Given the description of an element on the screen output the (x, y) to click on. 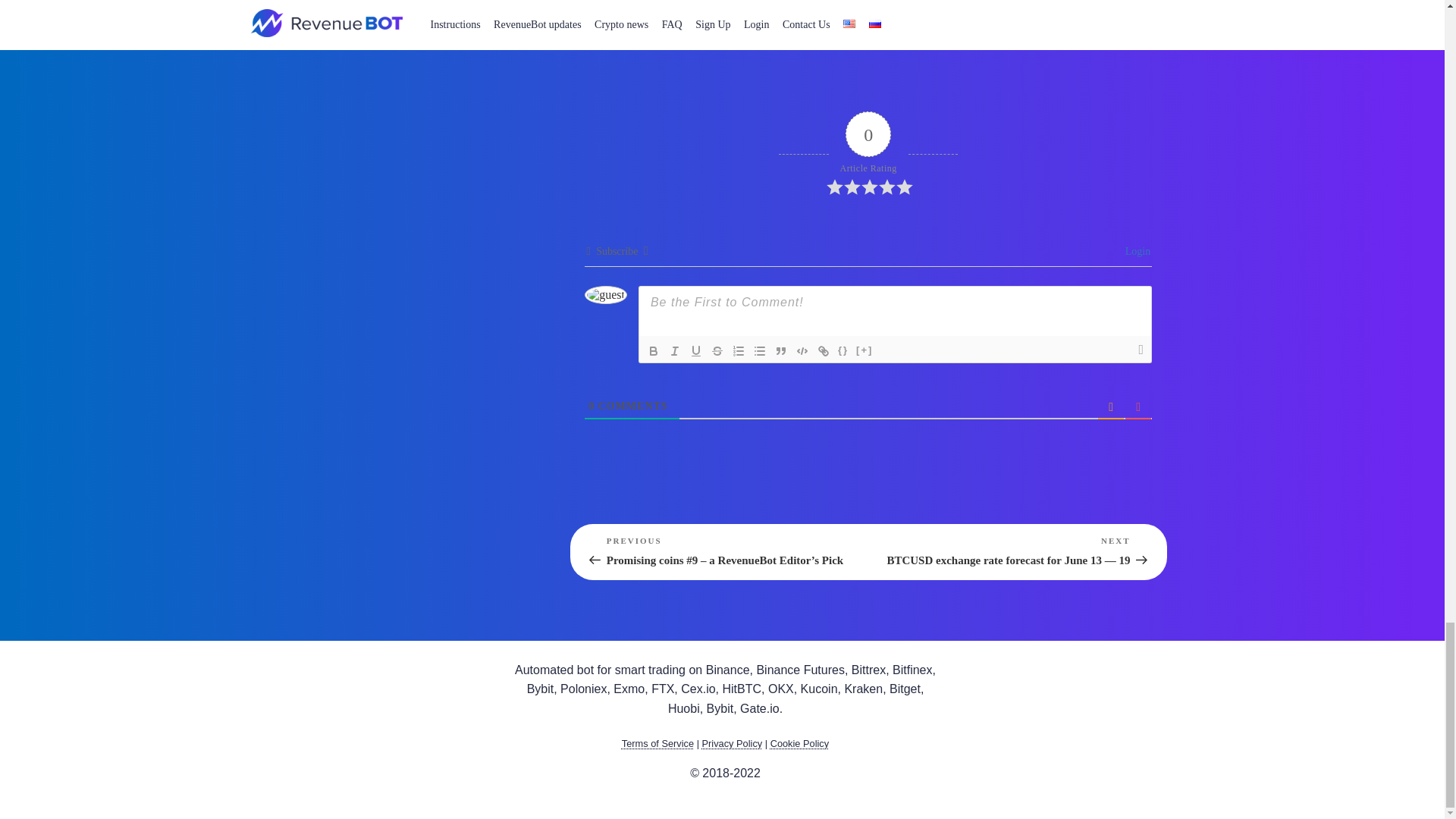
Blockquote (781, 351)
Code Block (802, 351)
Login (1135, 251)
ordered (738, 351)
Strike (717, 351)
Link (823, 351)
Source Code (842, 351)
Unordered List (759, 351)
Ordered List (738, 351)
Bold (653, 351)
Spoiler (863, 351)
Italic (674, 351)
Underline (695, 351)
bullet (759, 351)
